Given the description of an element on the screen output the (x, y) to click on. 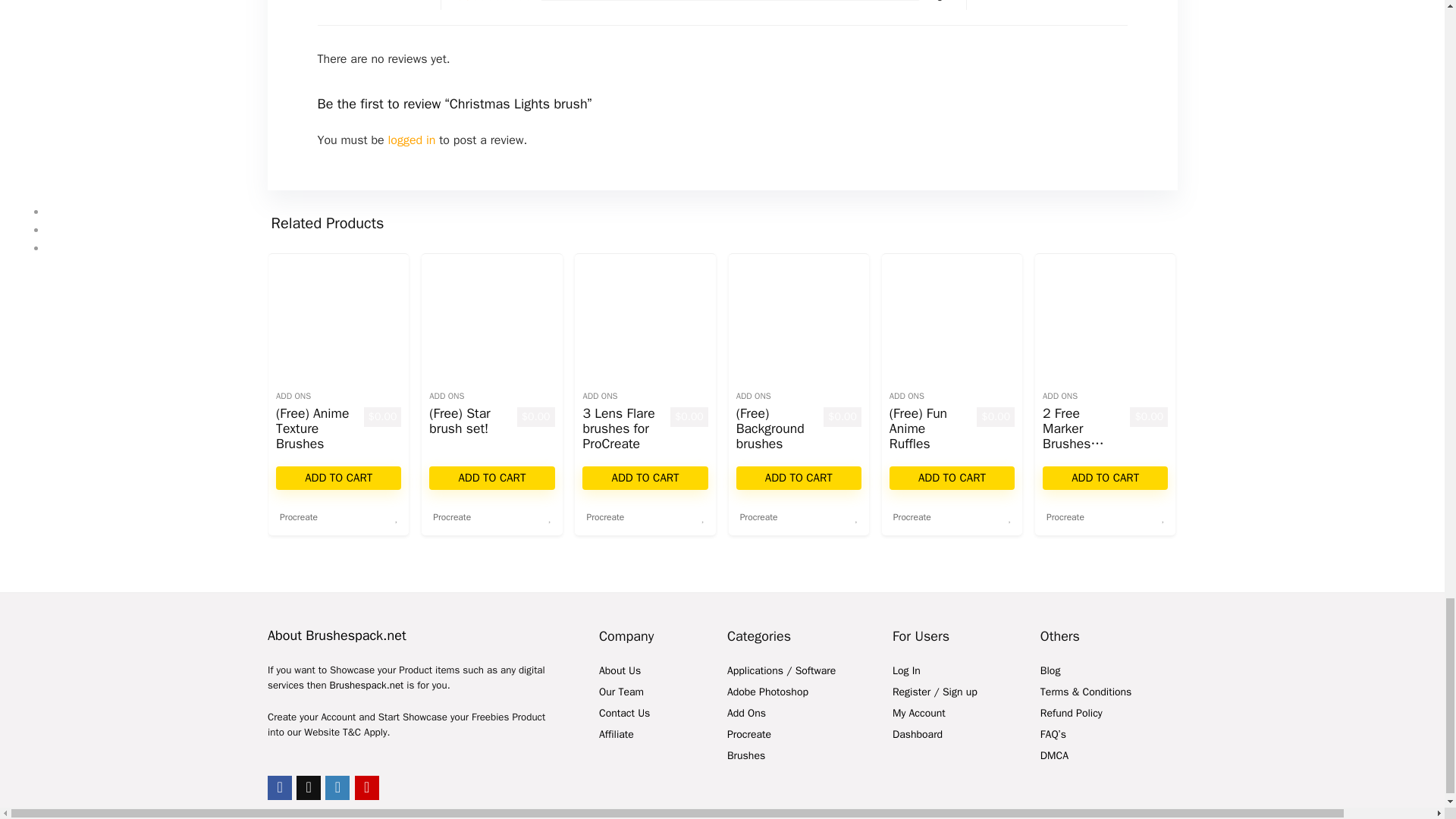
Rated 1 out of 5 (494, 1)
Facebook (279, 787)
Instagramm (336, 787)
twitter (308, 787)
Youtube (366, 787)
